Given the description of an element on the screen output the (x, y) to click on. 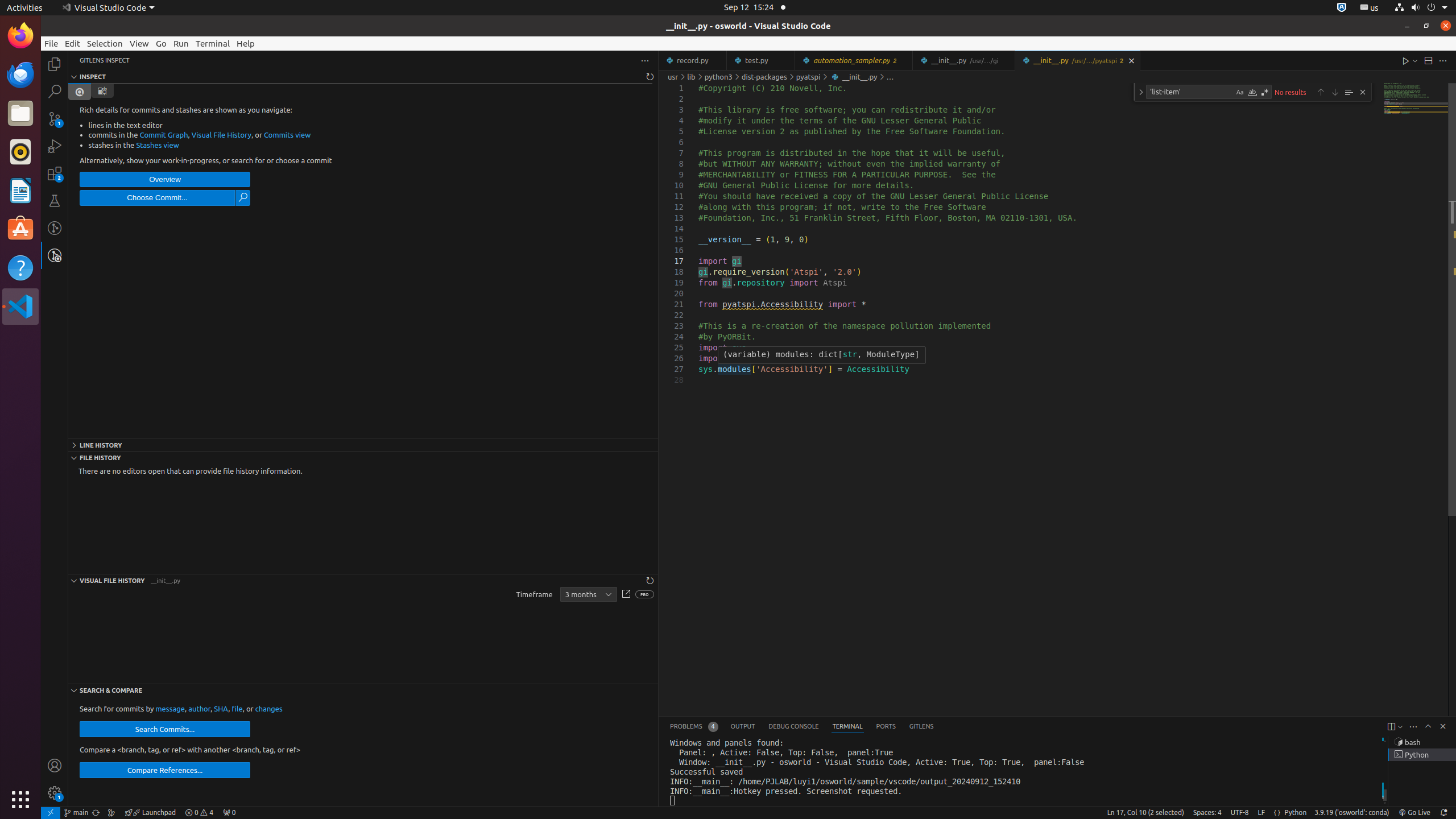
Next Match (Enter) Element type: push-button (1334, 91)
Close (Escape) Element type: push-button (1362, 91)
Previous Match (Shift+Enter) Element type: push-button (1320, 91)
Match Whole Word (Alt+W) Element type: check-box (1252, 91)
